Given the description of an element on the screen output the (x, y) to click on. 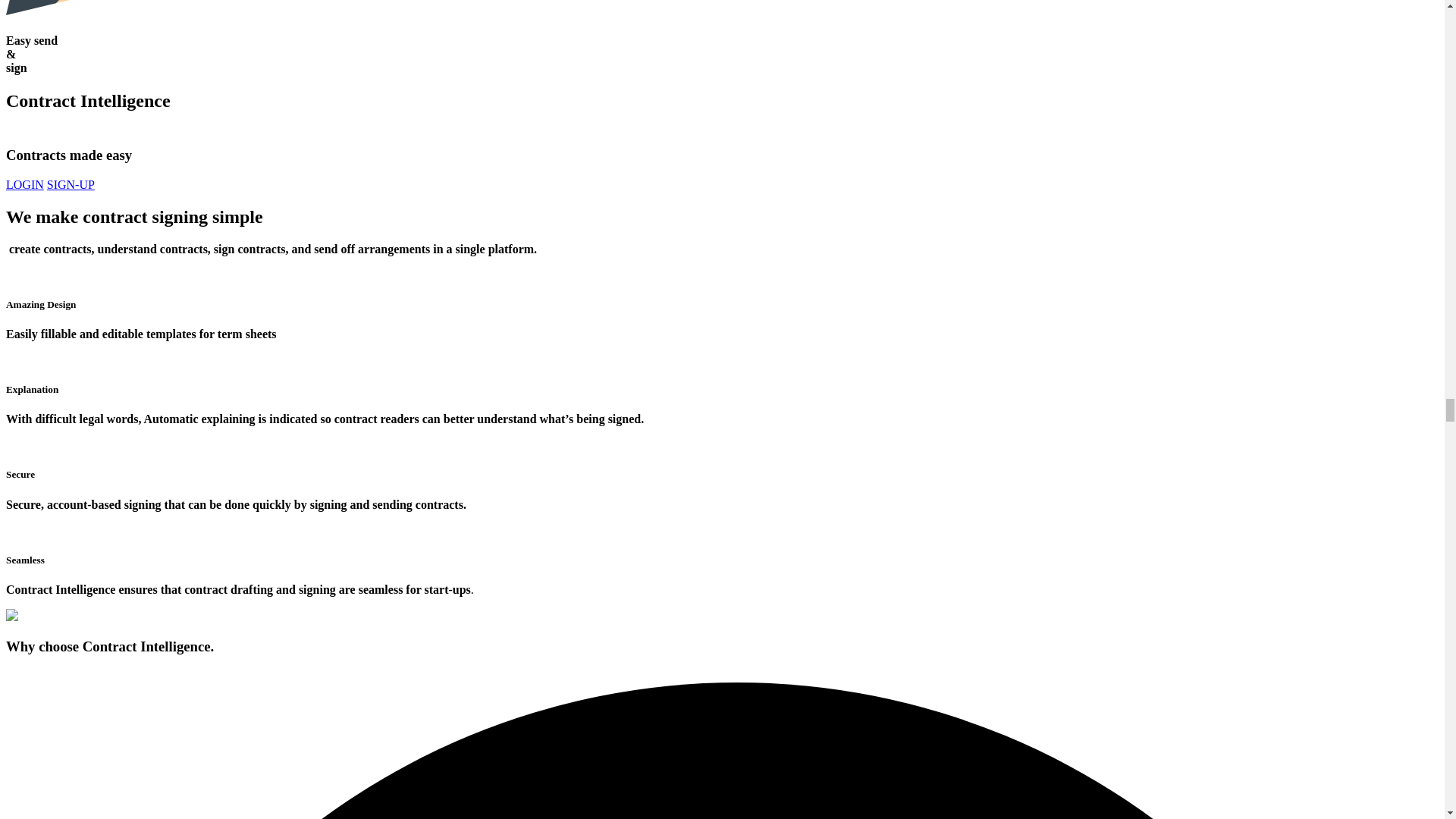
LOGIN (24, 184)
SIGN-UP (70, 184)
